Given the description of an element on the screen output the (x, y) to click on. 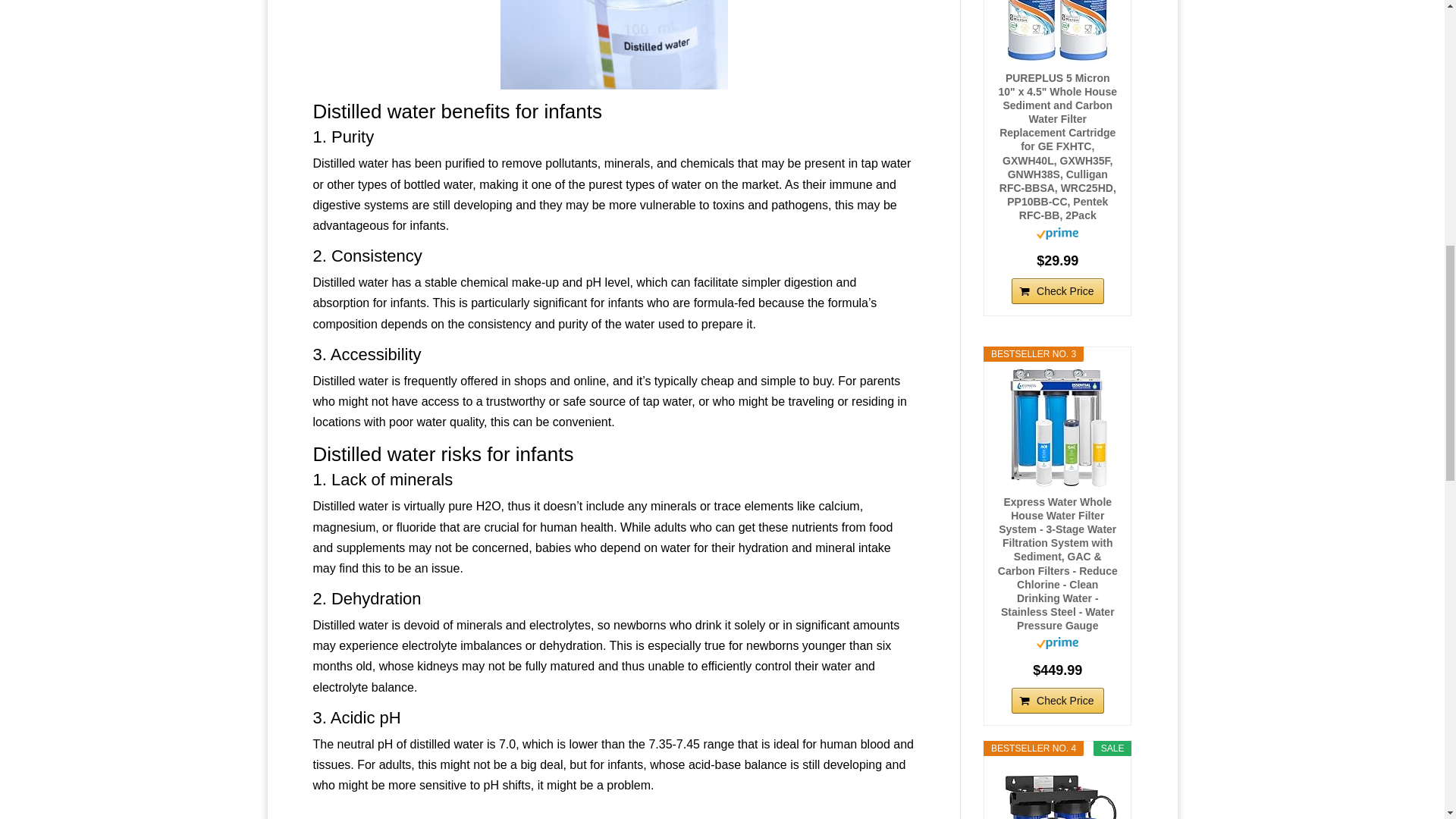
Check Price (1057, 290)
Amazon Prime (1057, 644)
Check Price (1057, 700)
Amazon Prime (1057, 235)
